Given the description of an element on the screen output the (x, y) to click on. 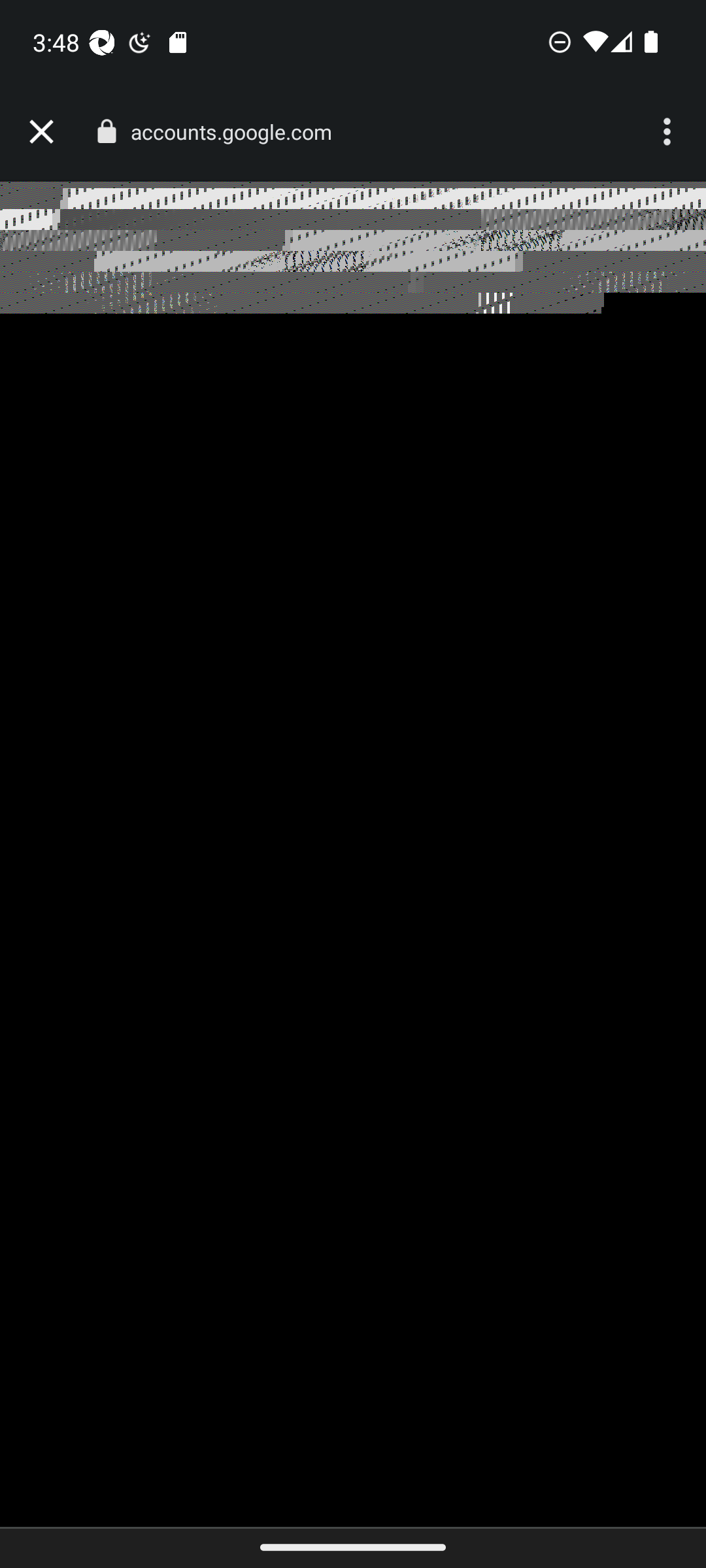
Close tab (41, 131)
More options (669, 131)
Connection is secure (106, 131)
accounts.google.com (237, 131)
